Given the description of an element on the screen output the (x, y) to click on. 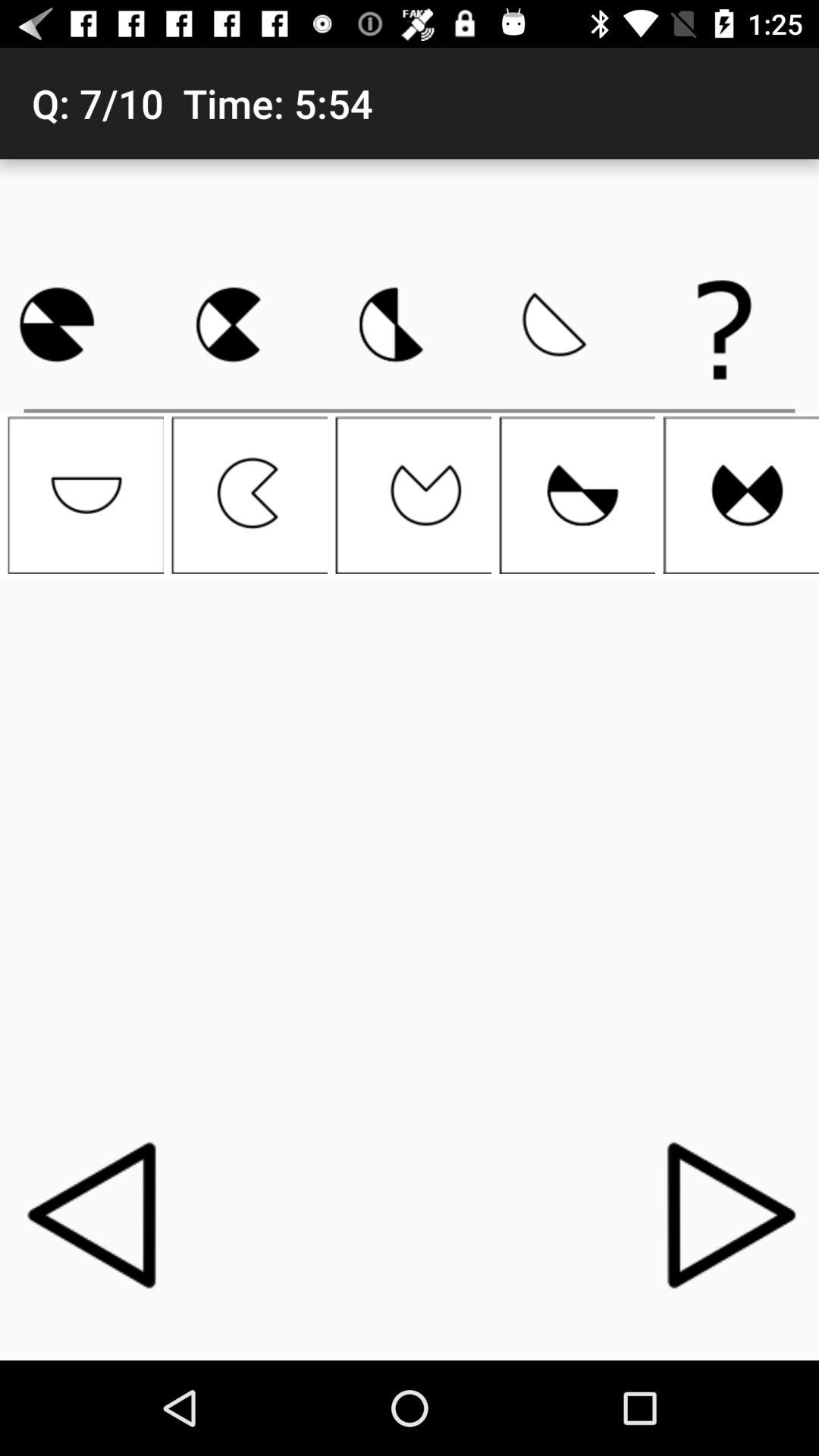
turn off icon at the bottom left corner (95, 1213)
